Given the description of an element on the screen output the (x, y) to click on. 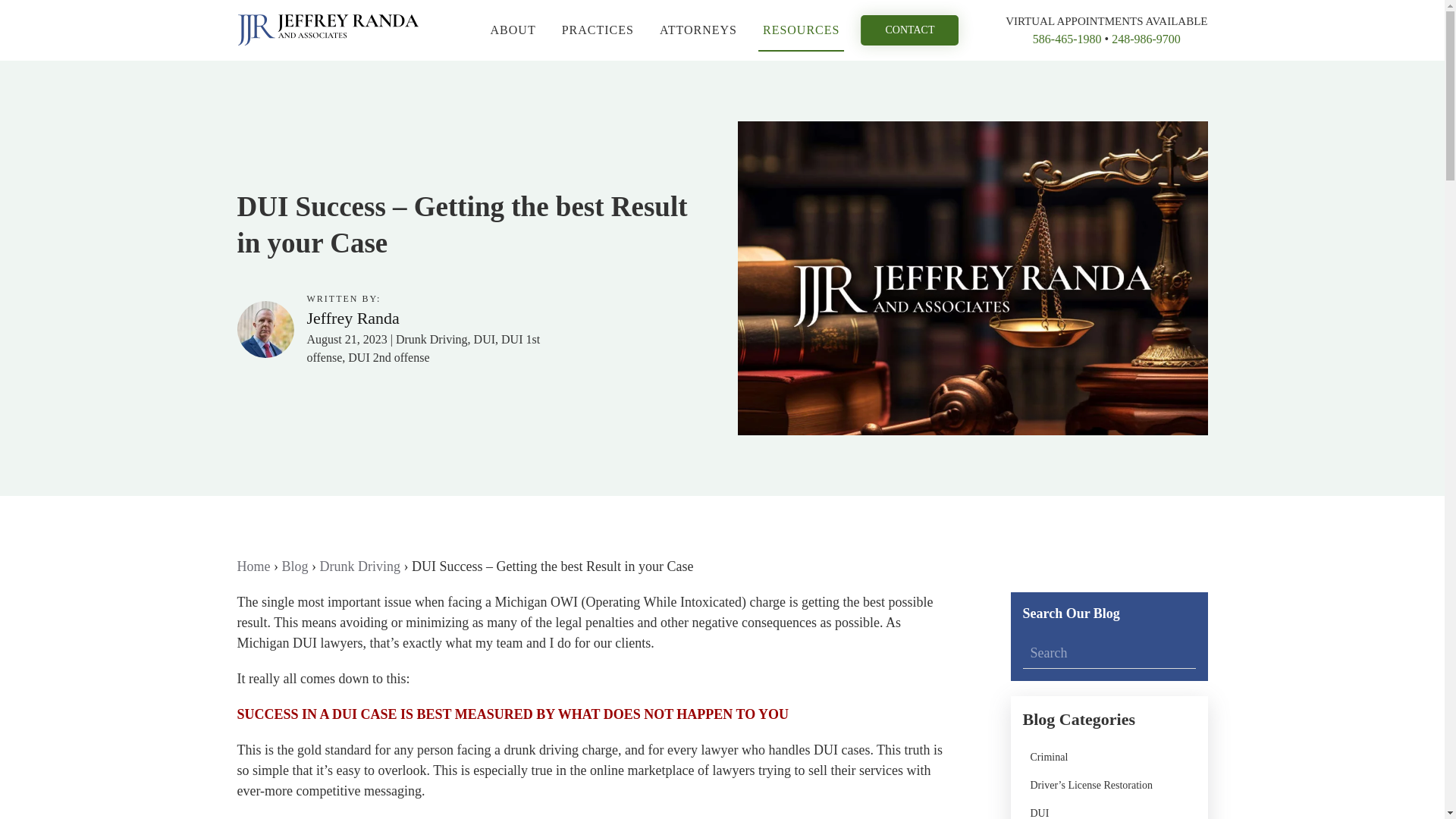
PRACTICES (598, 30)
Drunk Driving (360, 566)
Home (252, 566)
ABOUT (513, 30)
Blog (295, 566)
